Given the description of an element on the screen output the (x, y) to click on. 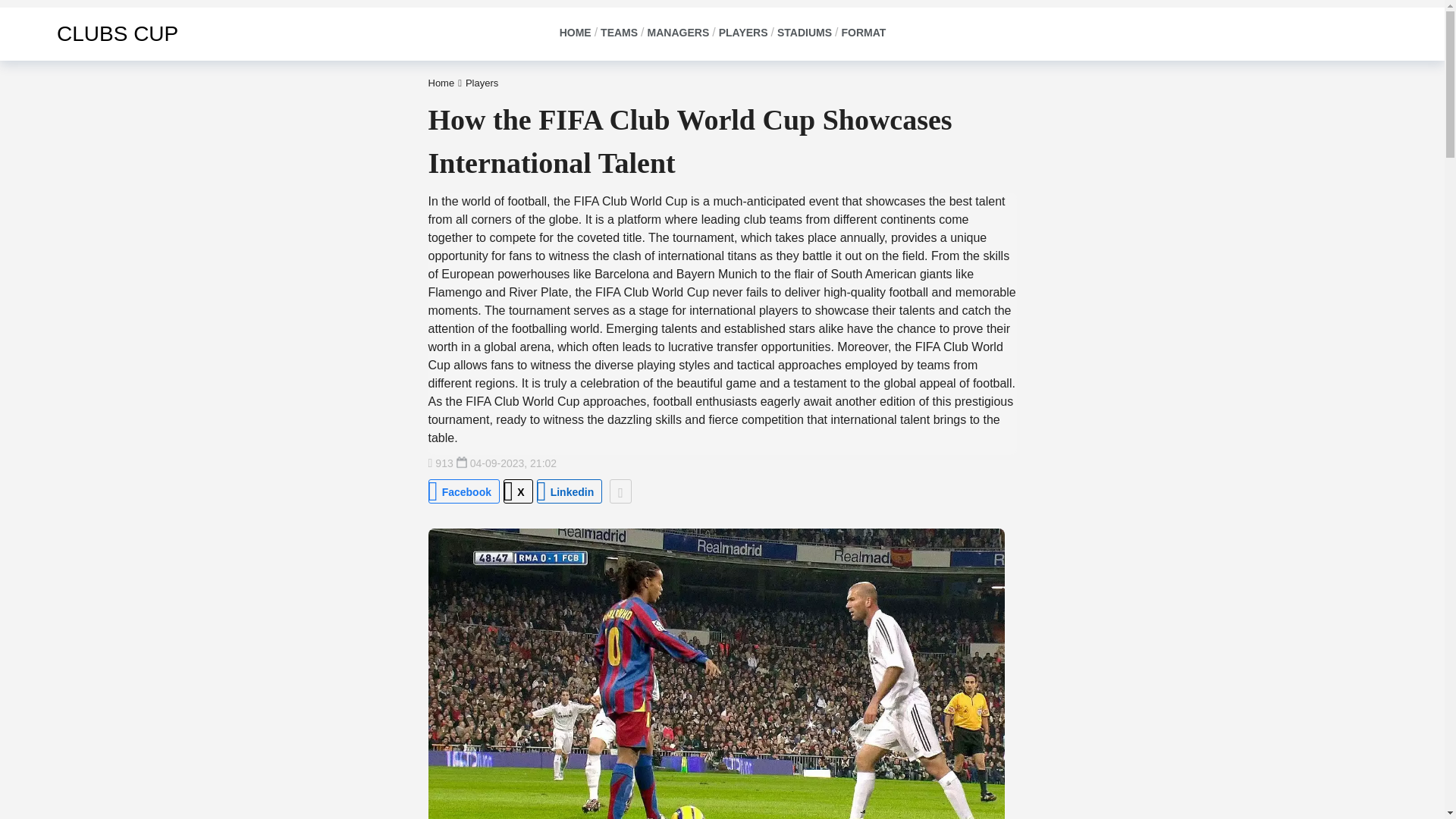
Share via Linkedin (569, 491)
PLAYERS (742, 32)
STADIUMS (803, 32)
CLUBS CUP (95, 33)
Share via Facebook (463, 491)
MANAGERS (677, 32)
Share via X (517, 491)
Players (481, 82)
Home (441, 82)
Views (440, 463)
